Given the description of an element on the screen output the (x, y) to click on. 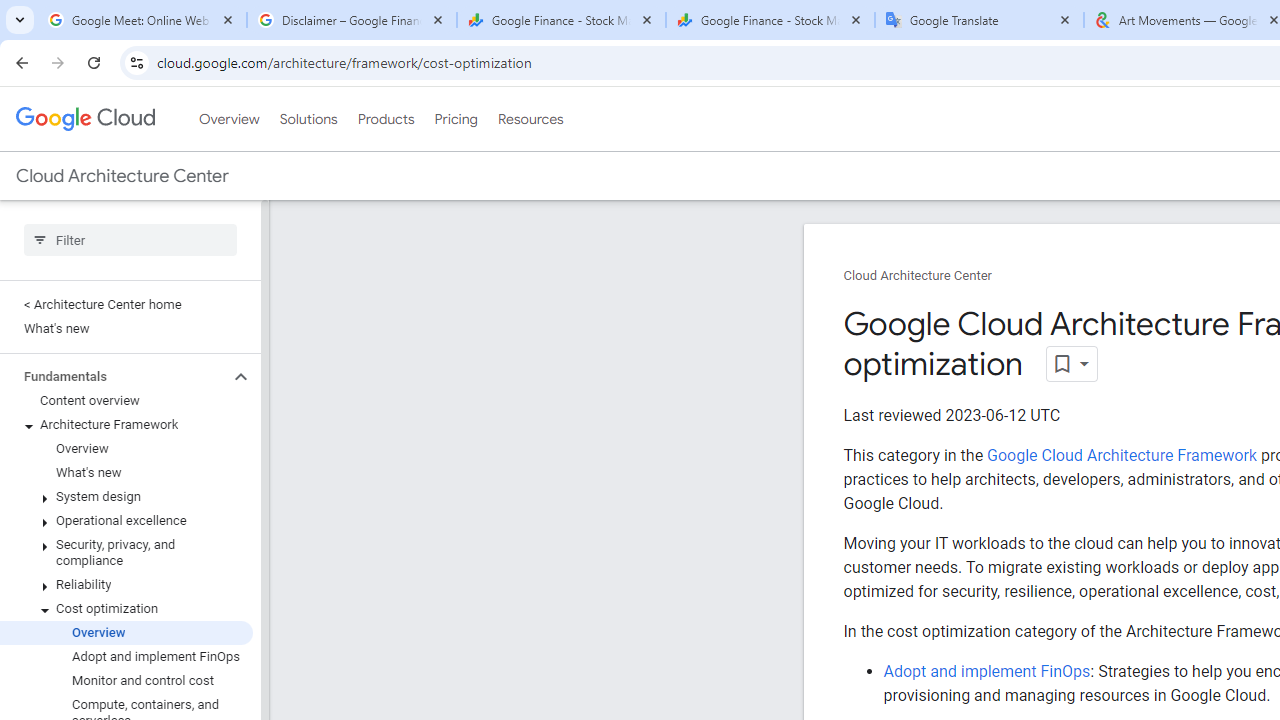
Google Cloud Architecture Framework (1121, 455)
Google Translate (979, 20)
Reliability (126, 584)
< Architecture Center home (126, 304)
Fundamentals (114, 376)
Security, privacy, and compliance (126, 552)
Architecture Framework (126, 425)
Cost optimization (126, 608)
Open dropdown (1072, 364)
Adopt and implement FinOps (986, 671)
